Given the description of an element on the screen output the (x, y) to click on. 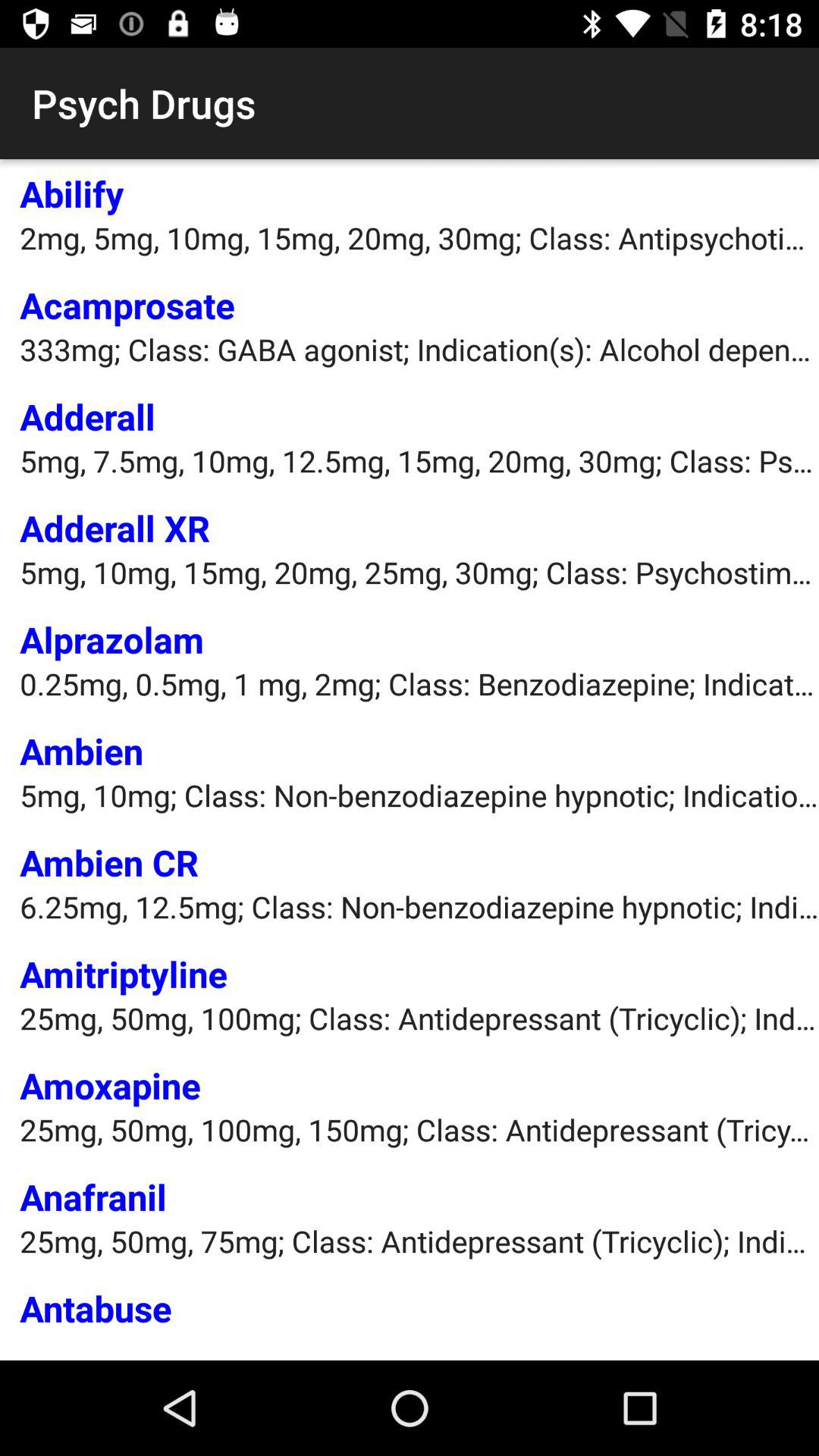
launch app above the 25mg 50mg 100mg icon (109, 1085)
